Given the description of an element on the screen output the (x, y) to click on. 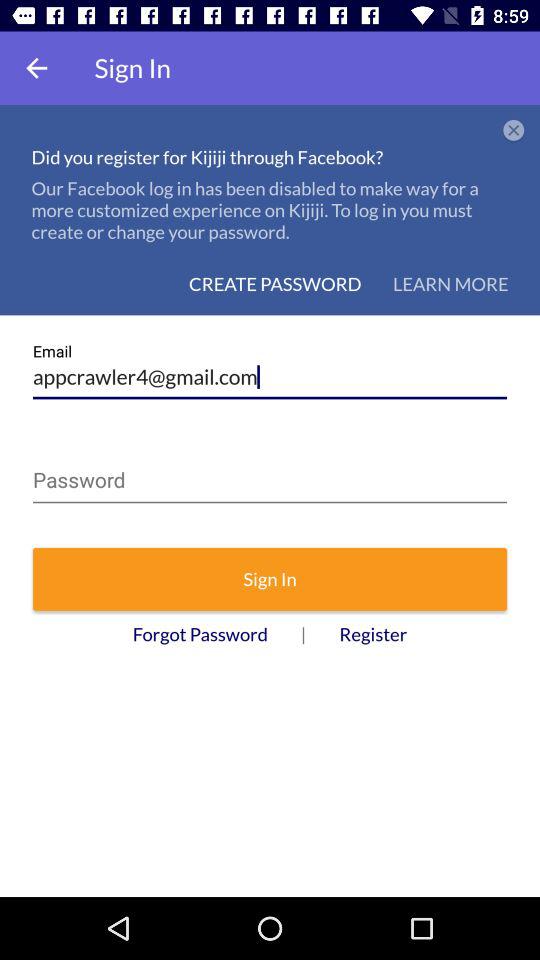
tap the icon next to did you register icon (513, 131)
